Given the description of an element on the screen output the (x, y) to click on. 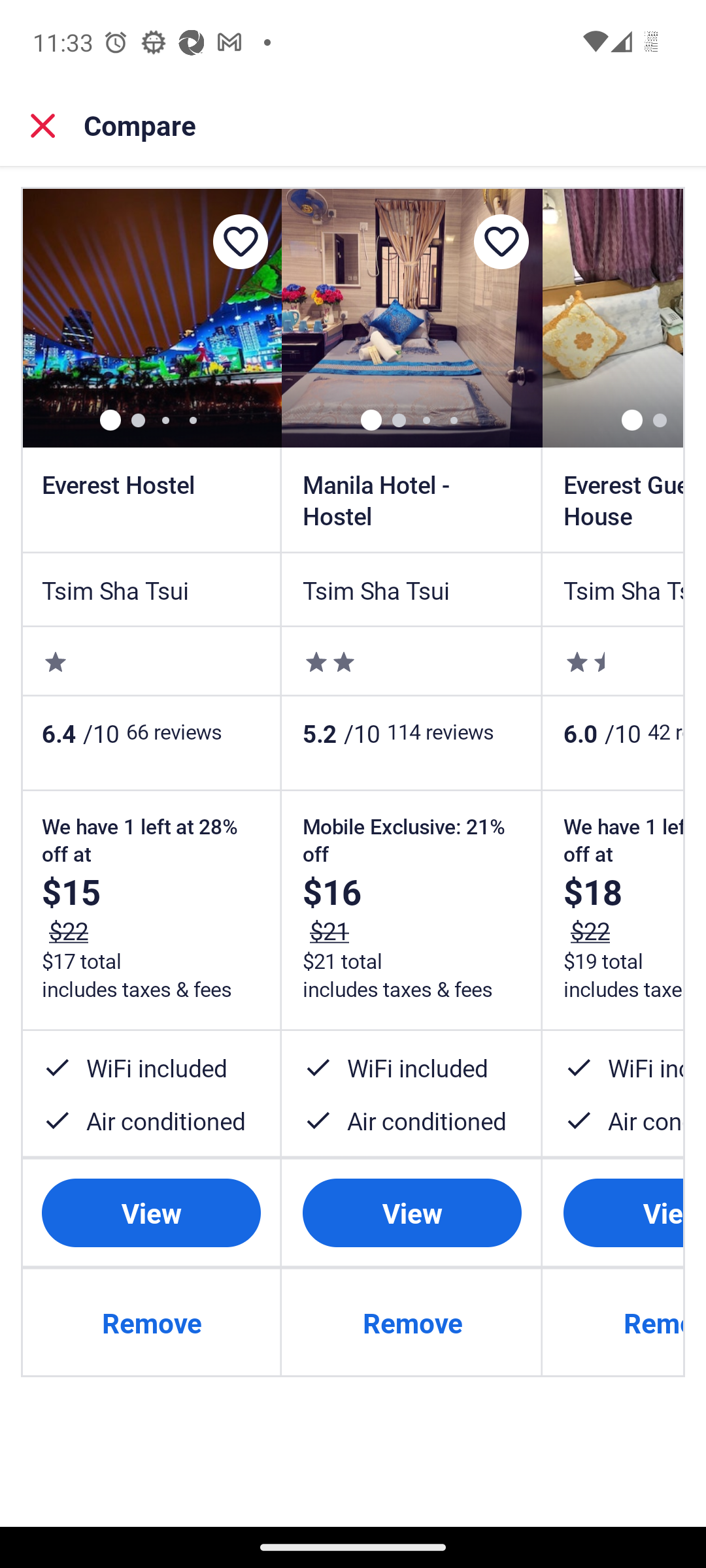
Close, back to property search. (43, 125)
Save Everest Hostel to a trip (240, 241)
Save Manila Hotel - Hostel to a trip (501, 241)
